Given the description of an element on the screen output the (x, y) to click on. 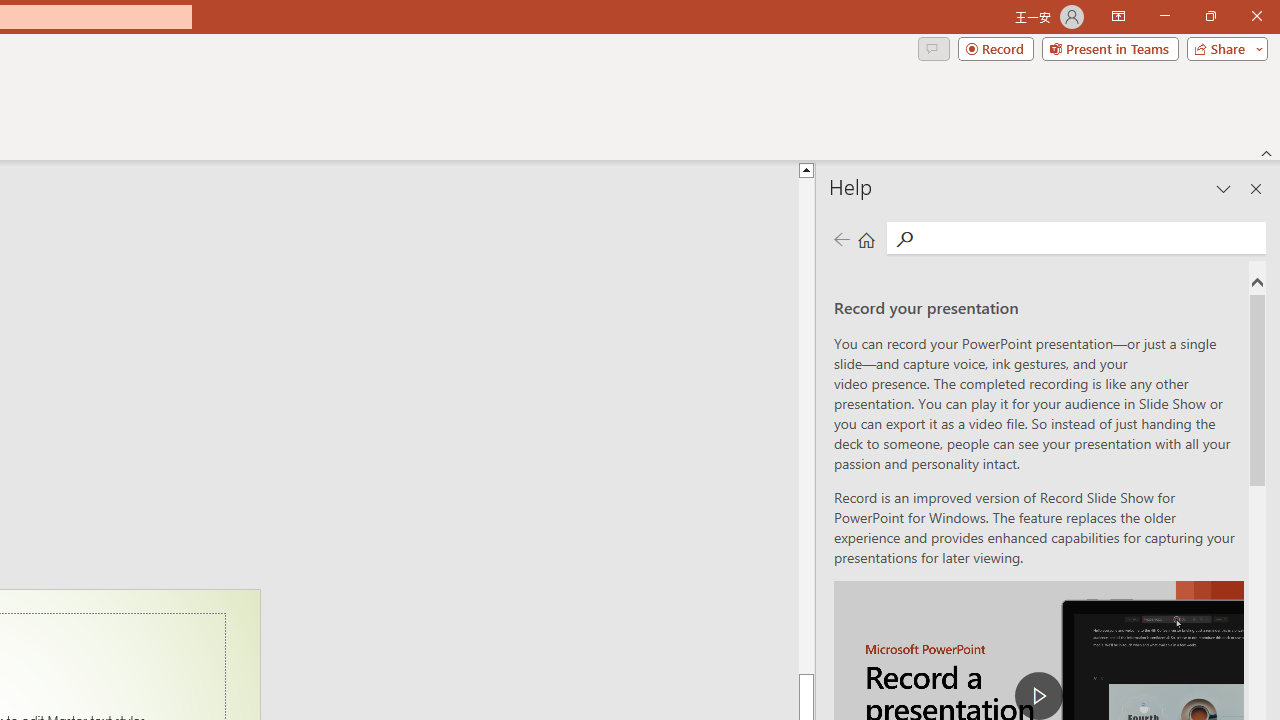
Previous page (841, 238)
